Given the description of an element on the screen output the (x, y) to click on. 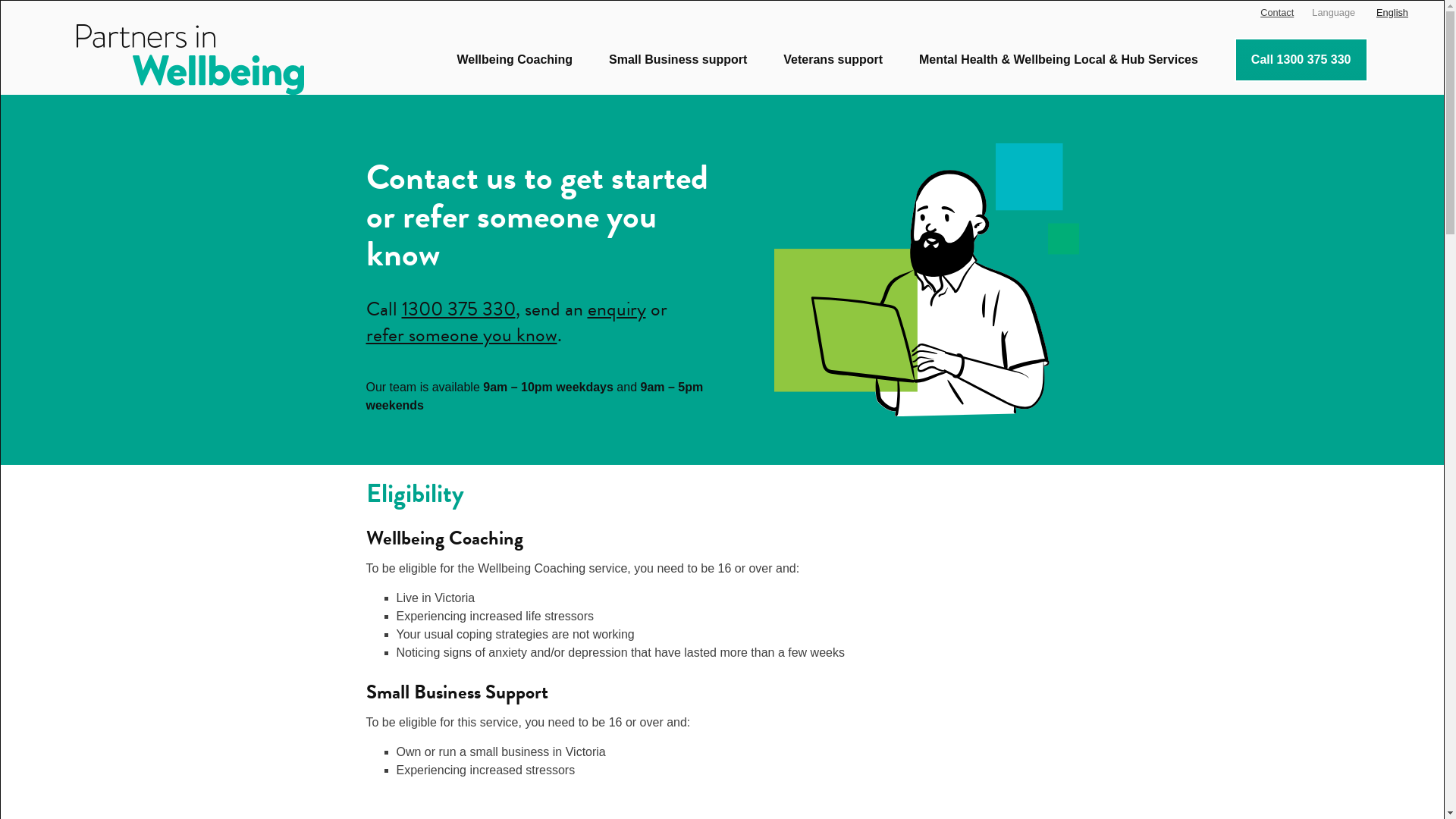
Veterans support Element type: text (832, 59)
Contact Element type: text (1276, 12)
Small Business support Element type: text (677, 59)
Mental Health & Wellbeing Local & Hub Services Element type: text (1058, 59)
enquiry Element type: text (615, 308)
Wellbeing Coaching Element type: text (514, 59)
1300 375 330 Element type: text (458, 308)
Call 1300 375 330 Element type: text (1301, 59)
refer someone you know Element type: text (460, 334)
